Given the description of an element on the screen output the (x, y) to click on. 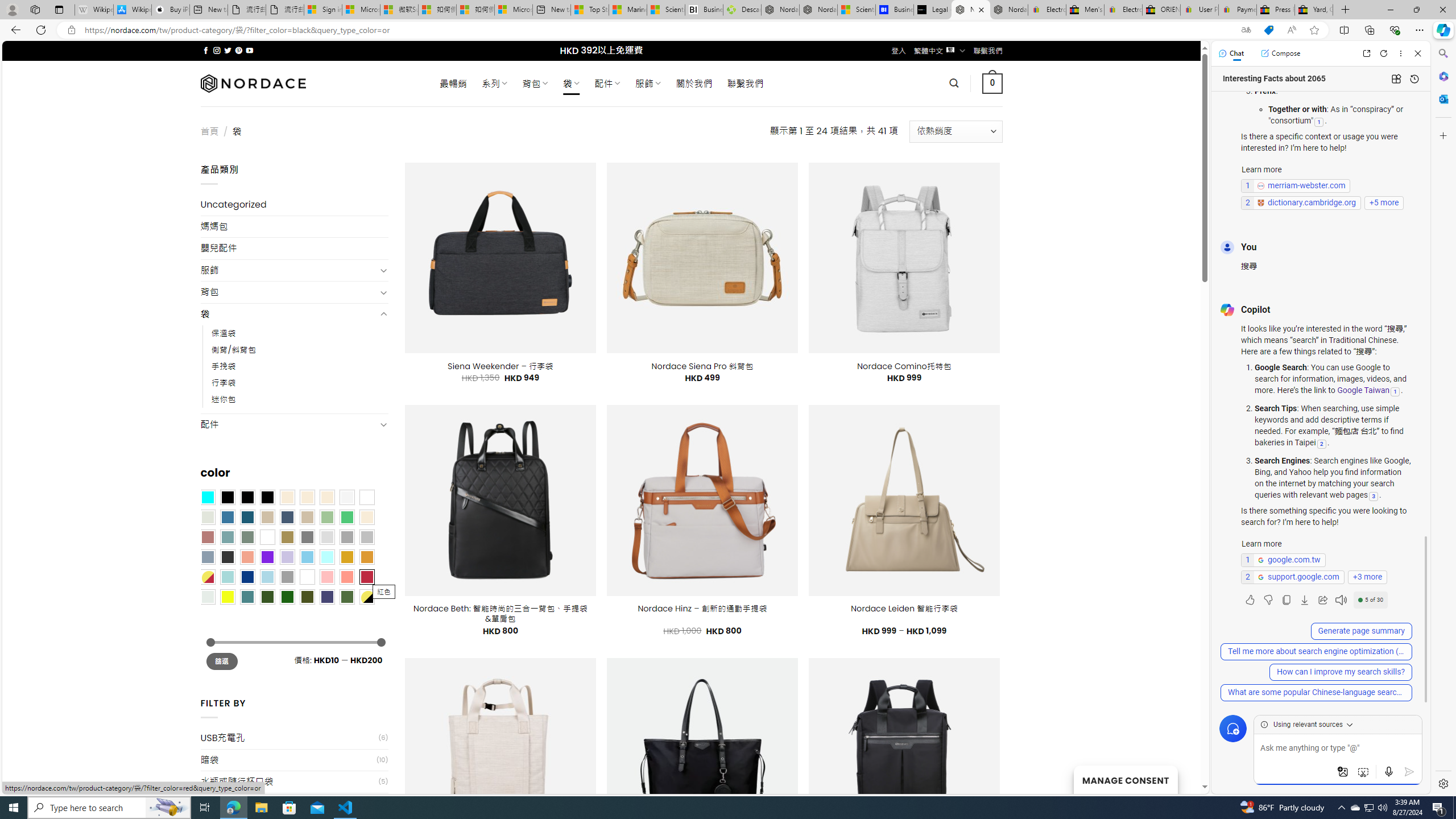
Follow on Instagram (216, 50)
Nordace - Summer Adventures 2024 (780, 9)
  0   (992, 83)
